Given the description of an element on the screen output the (x, y) to click on. 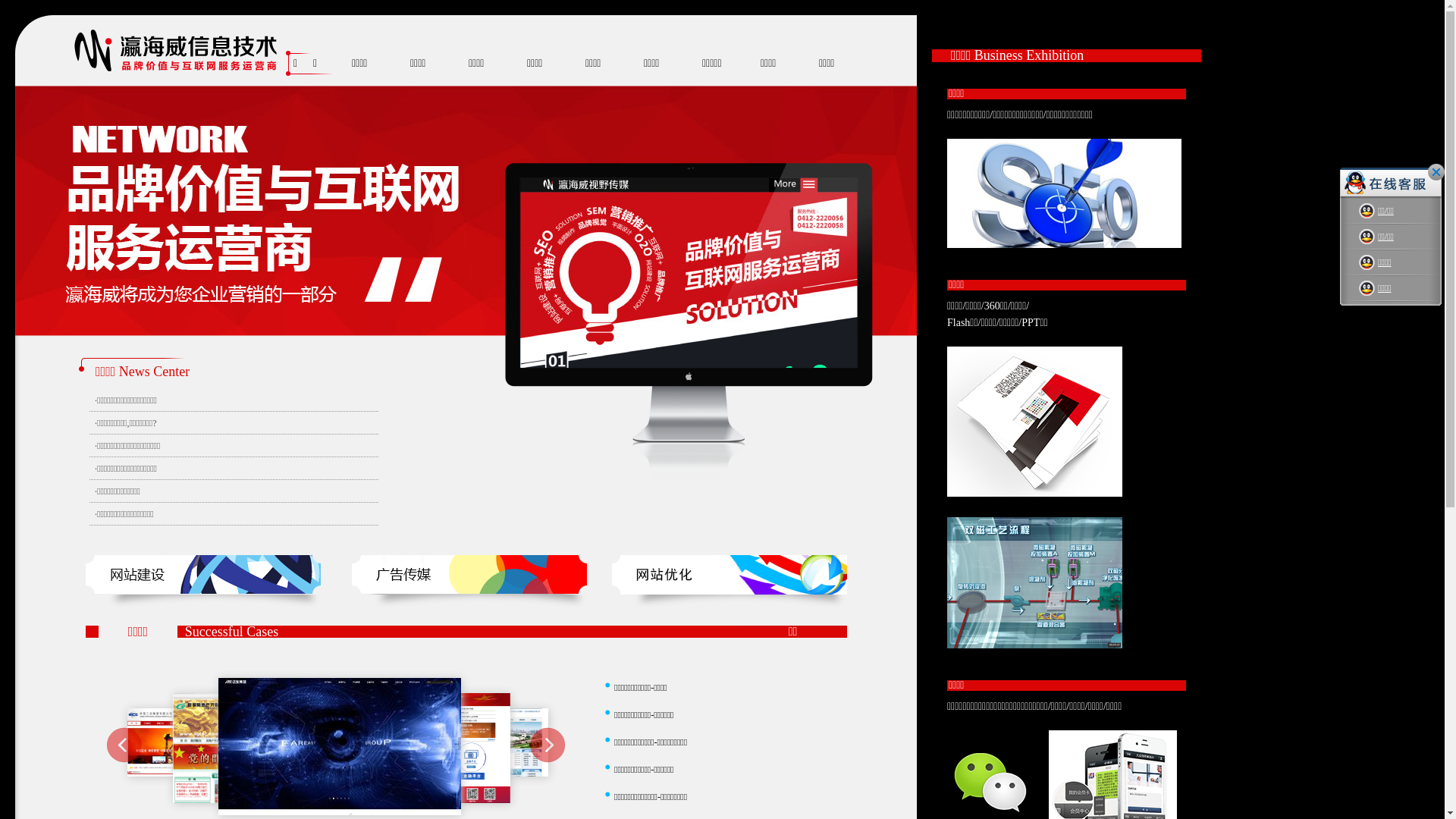
Successful Cases Element type: text (231, 631)
